Given the description of an element on the screen output the (x, y) to click on. 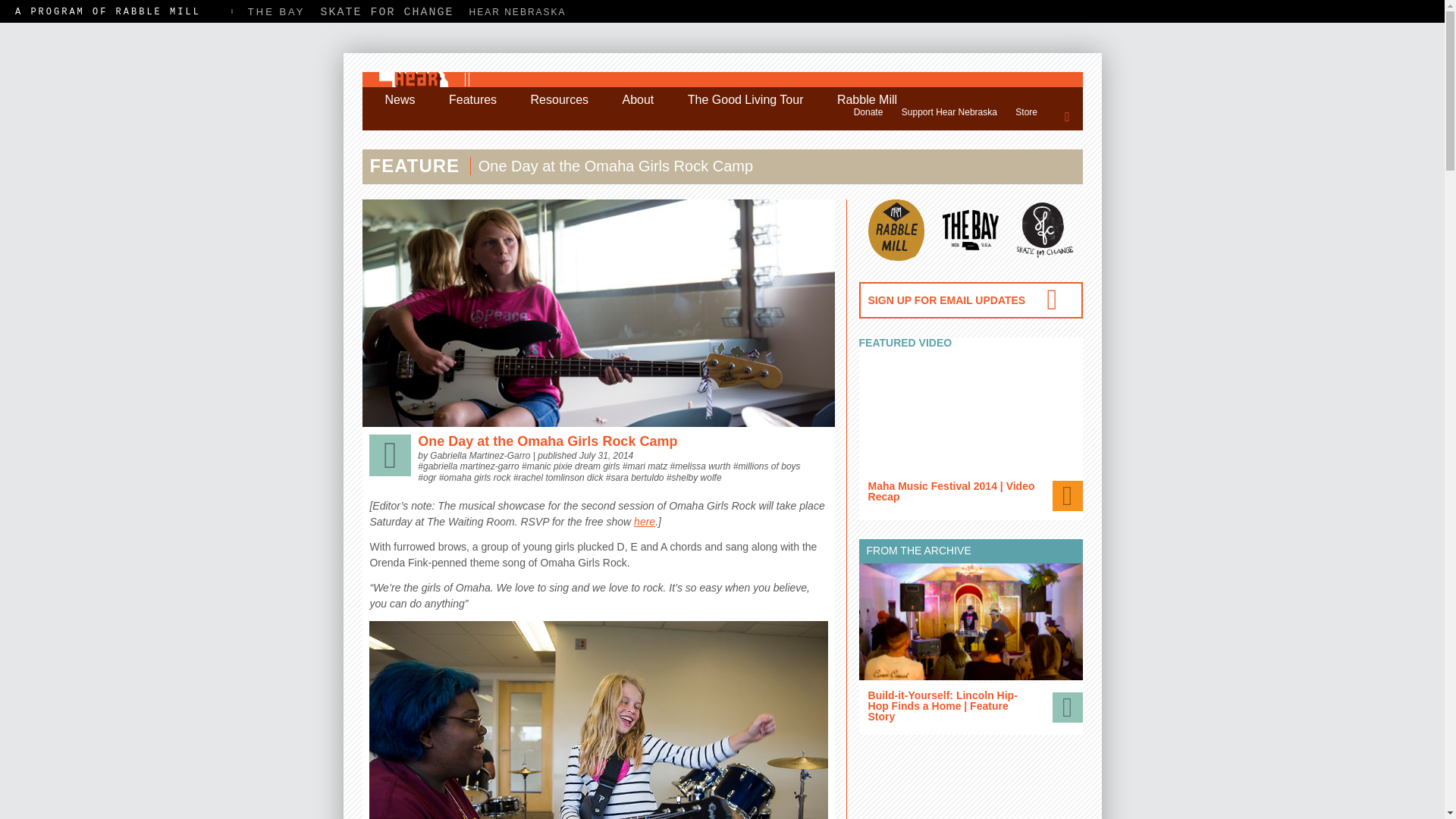
millions of boys (769, 466)
ogr (429, 477)
HEAR NEBRASKA (517, 11)
News (399, 100)
Store (1026, 112)
Resources (559, 100)
Search for: (1067, 114)
sara bertuldo (636, 477)
Support (868, 112)
